Given the description of an element on the screen output the (x, y) to click on. 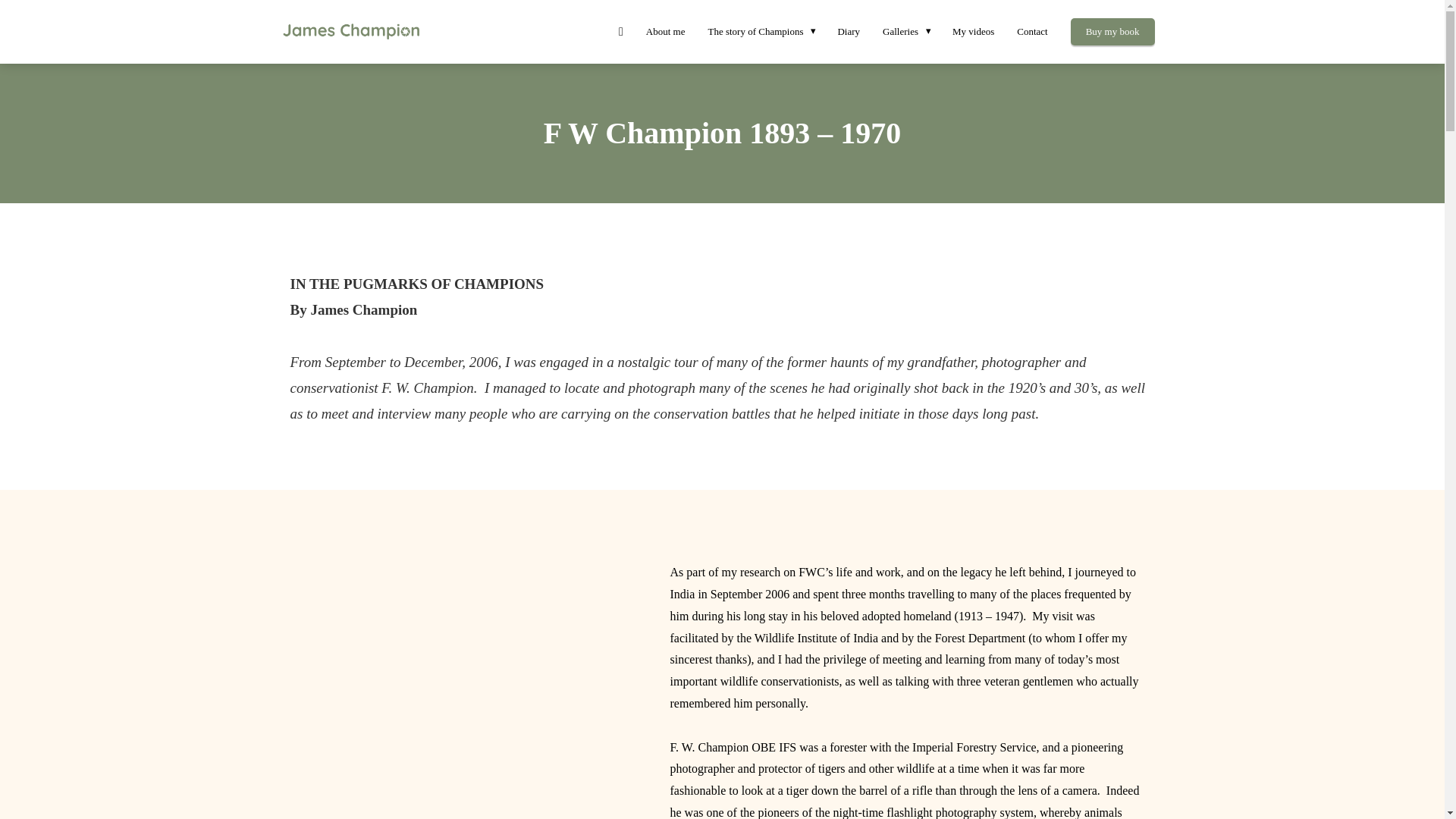
Contact (1032, 30)
Buy my book (1112, 30)
Logo (411, 30)
My videos (973, 30)
Diary (847, 30)
About me (665, 30)
